Given the description of an element on the screen output the (x, y) to click on. 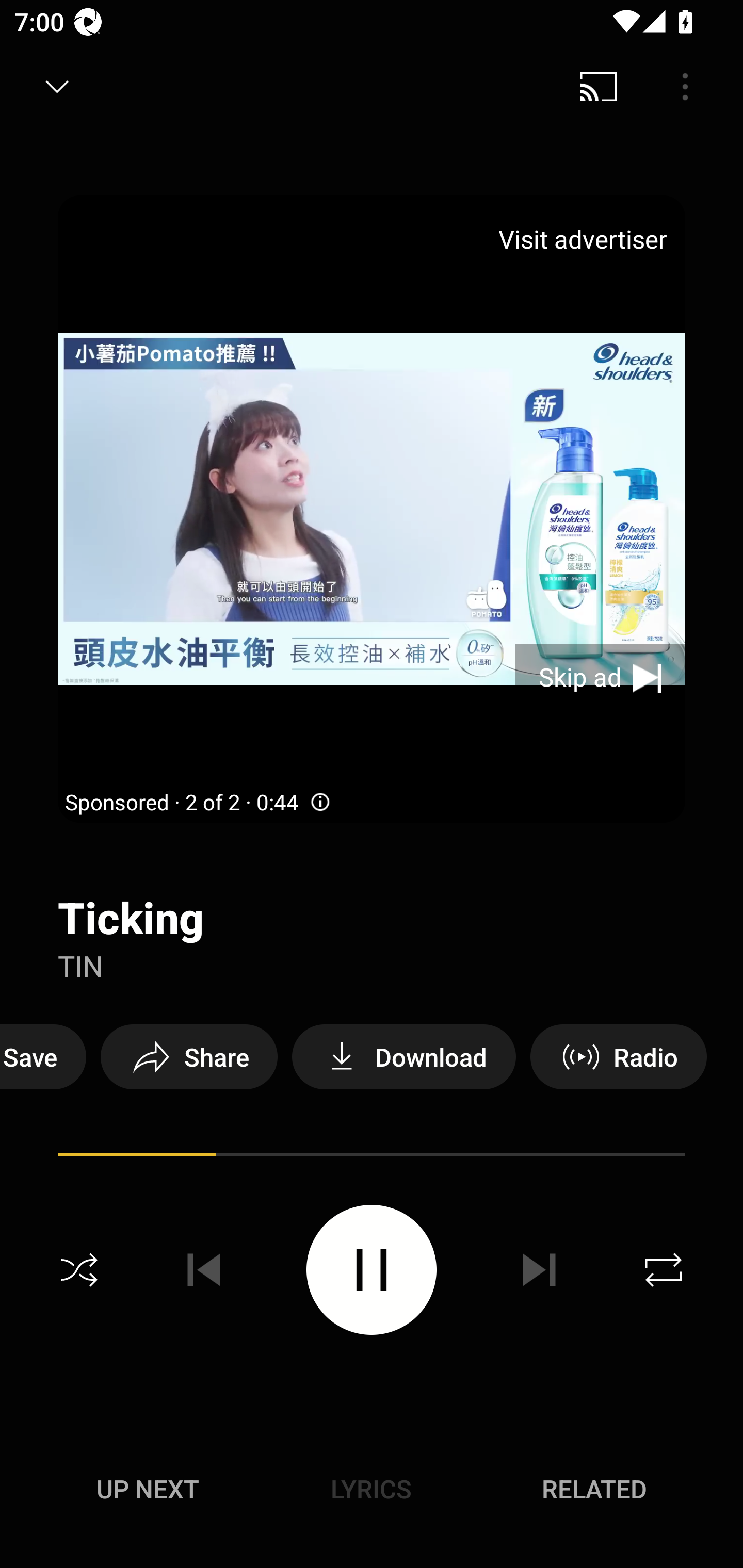
Minimize (57, 86)
Cast. Disconnected (598, 86)
Menu (684, 86)
Visit advertiser (586, 239)
Save Save to playlist (43, 1056)
Share (188, 1056)
Download (403, 1056)
Radio (618, 1056)
Pause video (371, 1269)
Shuffle off (79, 1269)
Previous track disabled (203, 1269)
Next track disabled (538, 1269)
Repeat off (663, 1269)
Up next UP NEXT Lyrics LYRICS Related RELATED (371, 1491)
Lyrics LYRICS (370, 1488)
Related RELATED (594, 1488)
